Given the description of an element on the screen output the (x, y) to click on. 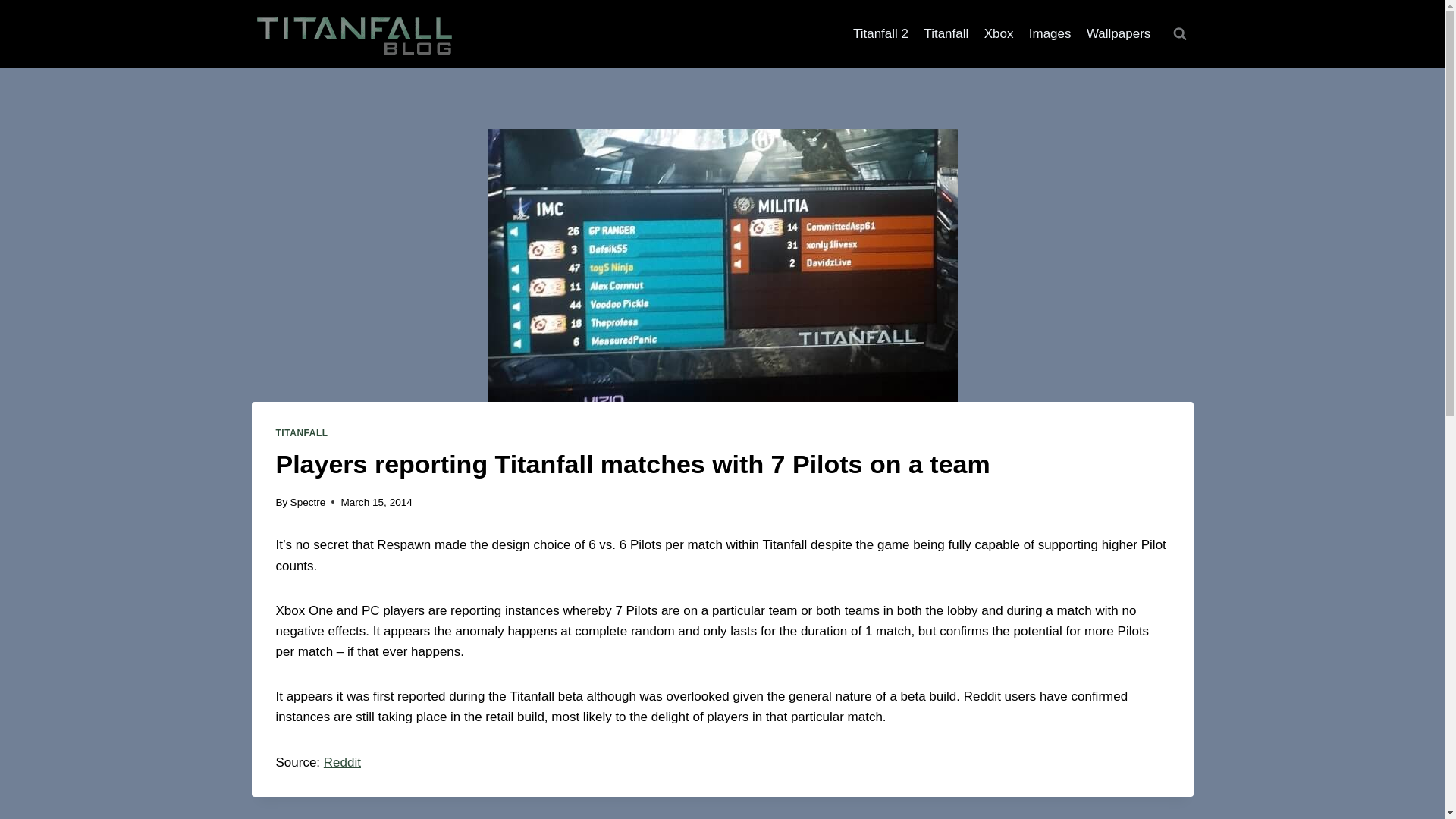
Titanfall 2 (880, 33)
Spectre (307, 501)
Images (1050, 33)
Xbox (997, 33)
Wallpapers (1118, 33)
TITANFALL (302, 432)
Titanfall (945, 33)
Reddit (342, 762)
